Given the description of an element on the screen output the (x, y) to click on. 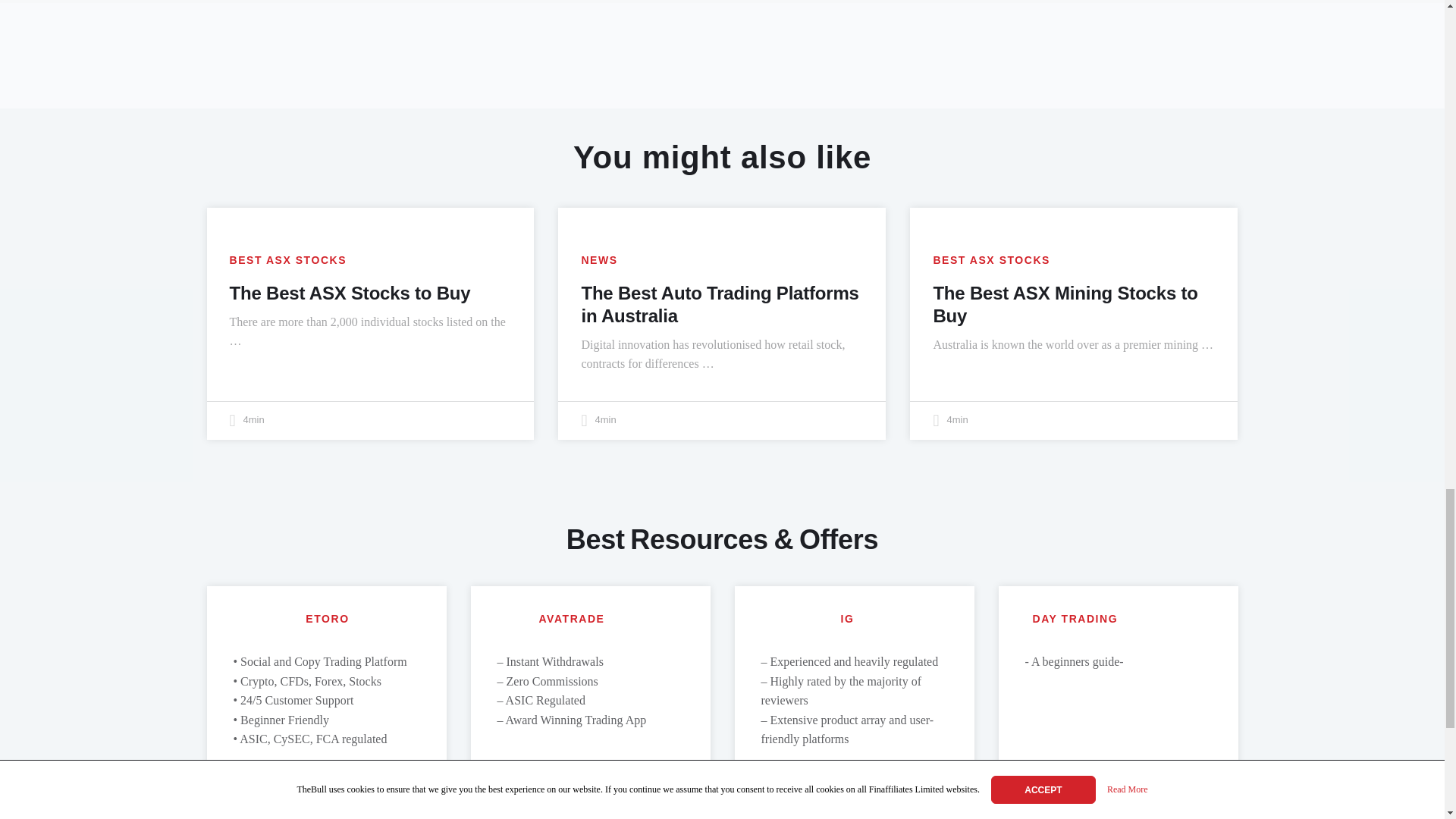
The Best ASX Stocks to Buy (349, 292)
The Best Auto Trading Platforms in Australia (719, 303)
BEST ASX STOCKS (287, 259)
NEWS (598, 259)
BEST ASX STOCKS (991, 259)
